Given the description of an element on the screen output the (x, y) to click on. 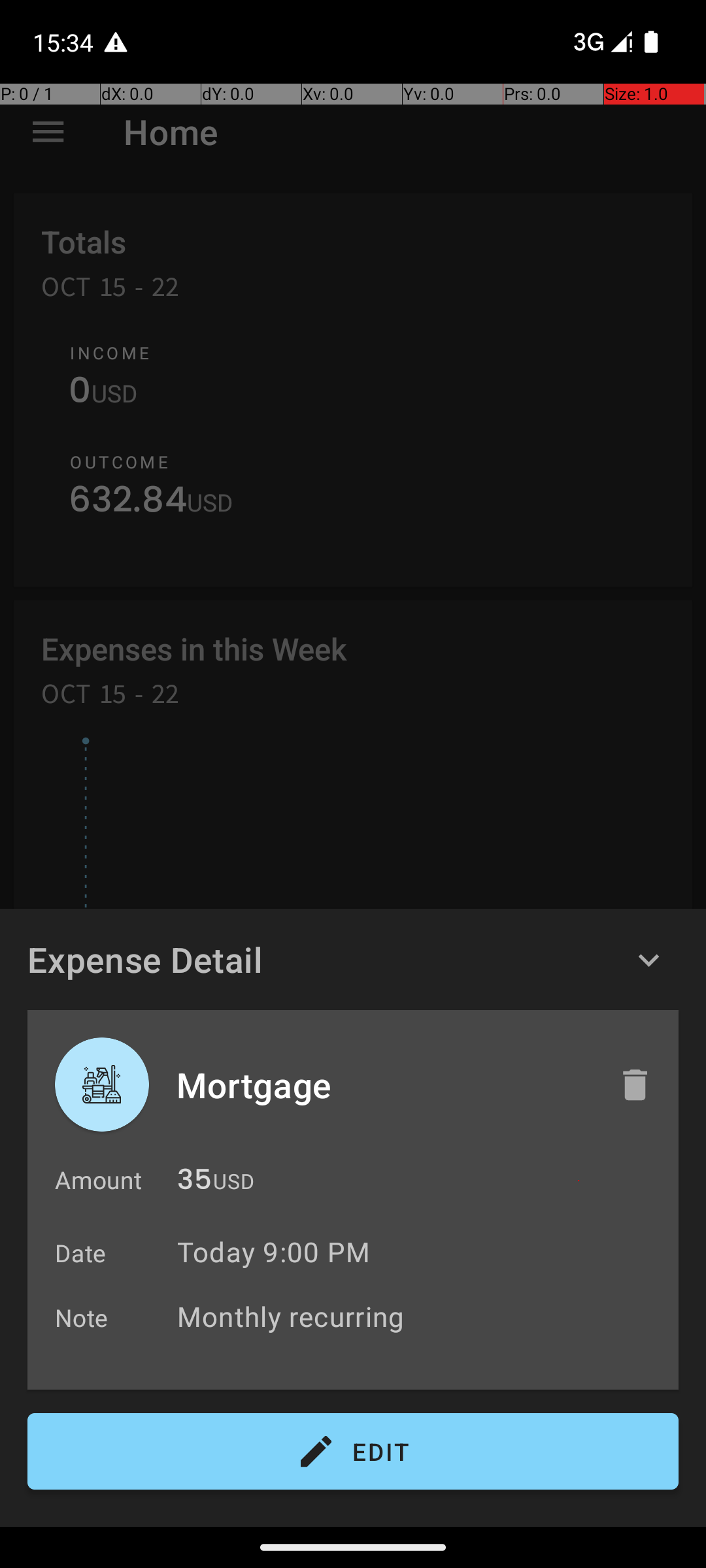
Mortgage Element type: android.widget.TextView (383, 1084)
Today 9:00 PM Element type: android.widget.TextView (273, 1251)
Monthly recurring Element type: android.widget.TextView (420, 1315)
